Given the description of an element on the screen output the (x, y) to click on. 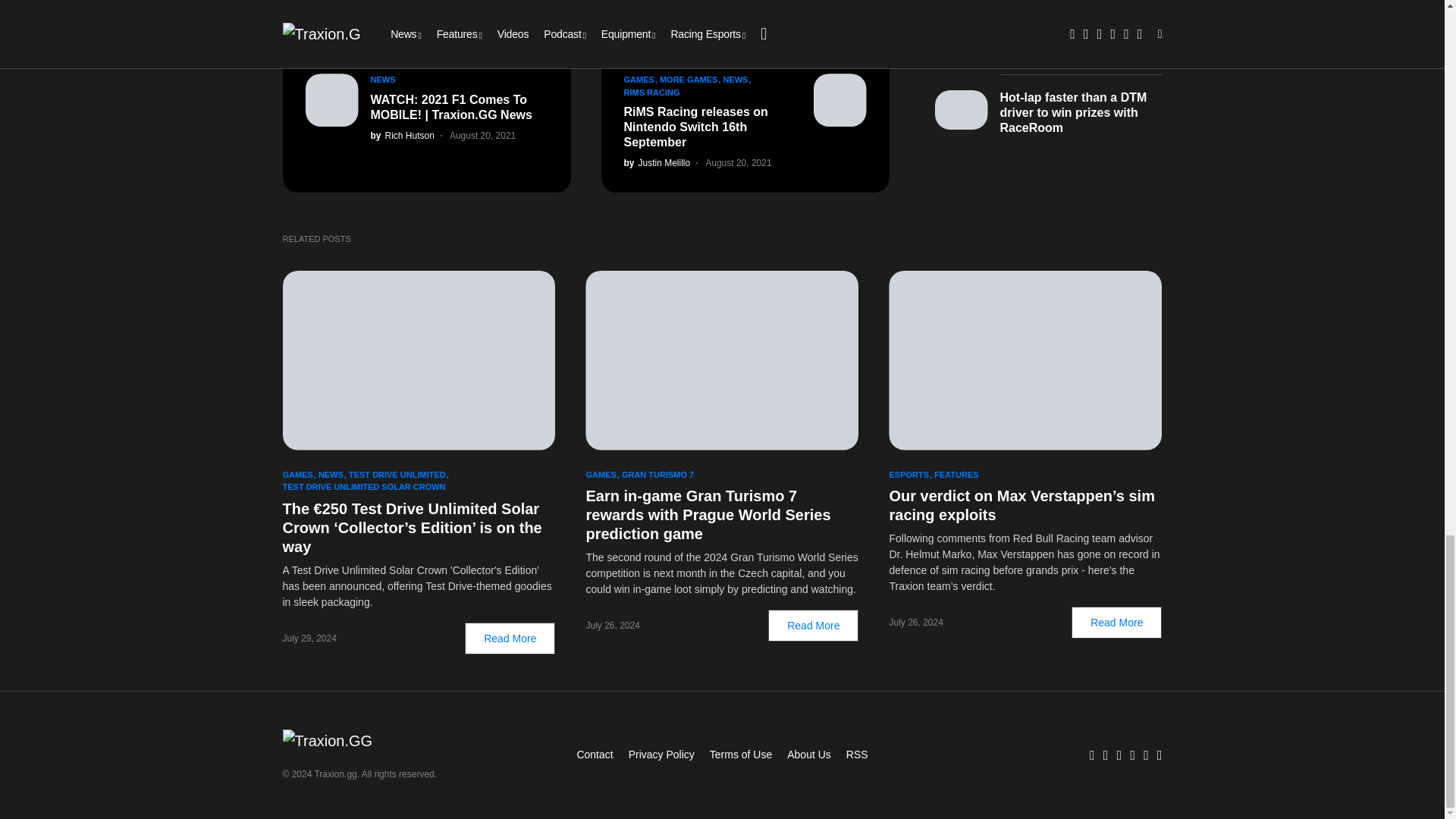
View all posts by Rich Hutson (401, 135)
View all posts by Justin Melillo (656, 162)
